Given the description of an element on the screen output the (x, y) to click on. 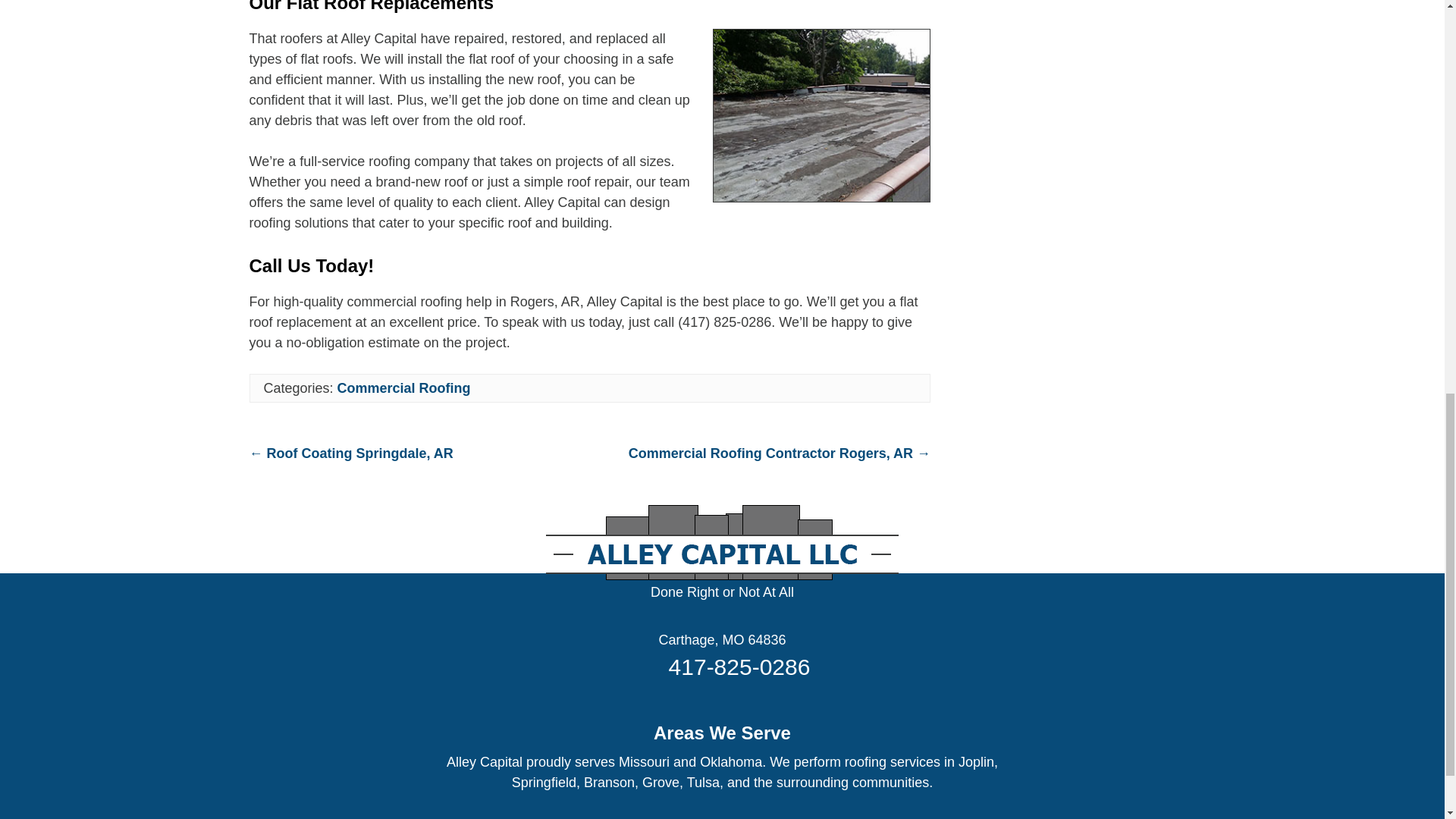
Alley Capital LLC (722, 592)
Alley Capital LLC (722, 639)
